Given the description of an element on the screen output the (x, y) to click on. 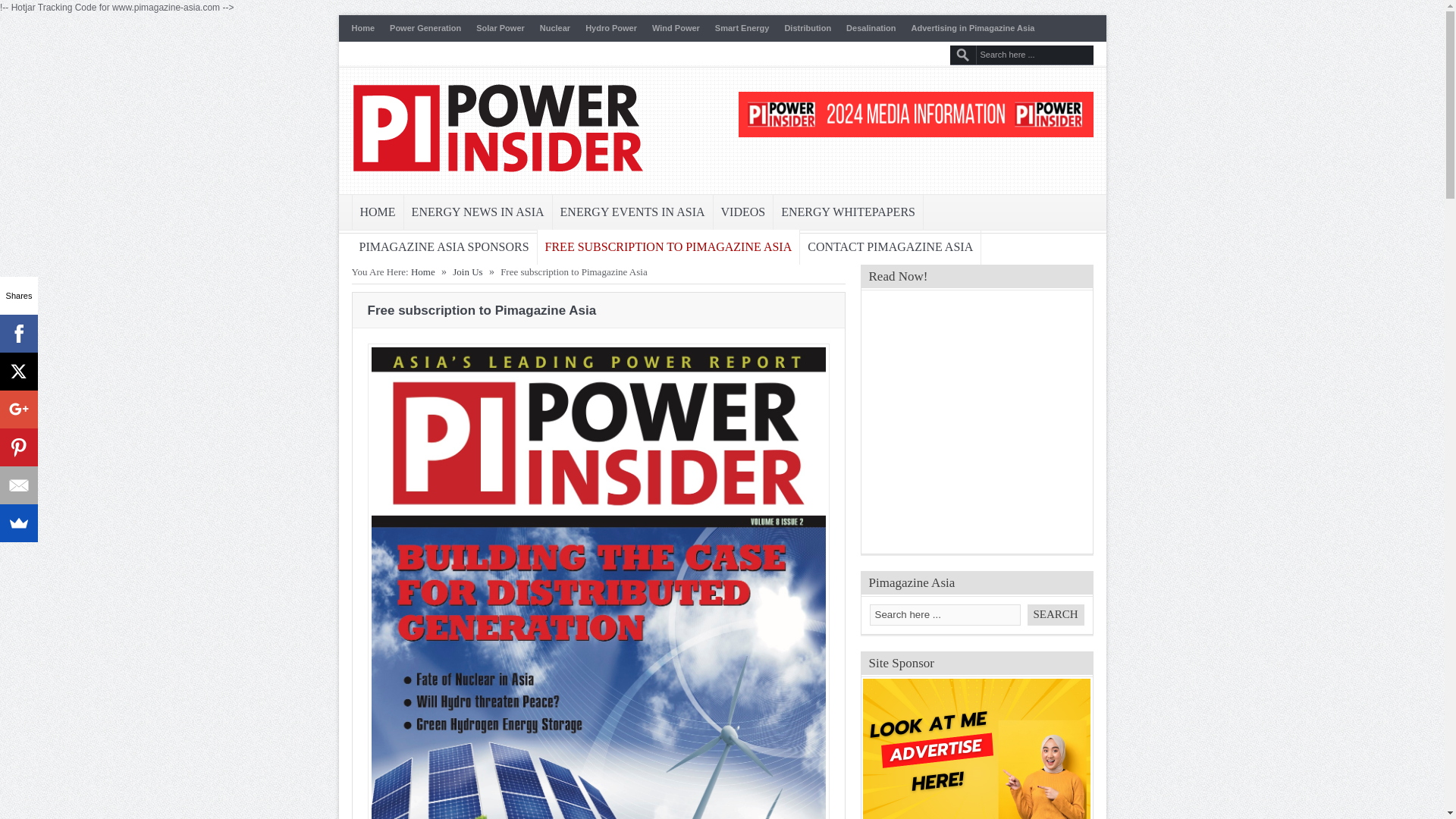
CONTACT PIMAGAZINE ASIA (889, 246)
Nuclear (555, 27)
FREE SUBSCRIPTION TO PIMAGAZINE ASIA (668, 247)
Home (422, 270)
Solar Power (500, 27)
Home (363, 27)
Search here ... (1034, 54)
Email (18, 485)
Search here ... (944, 613)
Wind Power (676, 27)
Desalination (870, 27)
Hydro Power (611, 27)
ENERGY WHITEPAPERS (848, 211)
Facebook (18, 333)
VIDEOS (743, 211)
